Given the description of an element on the screen output the (x, y) to click on. 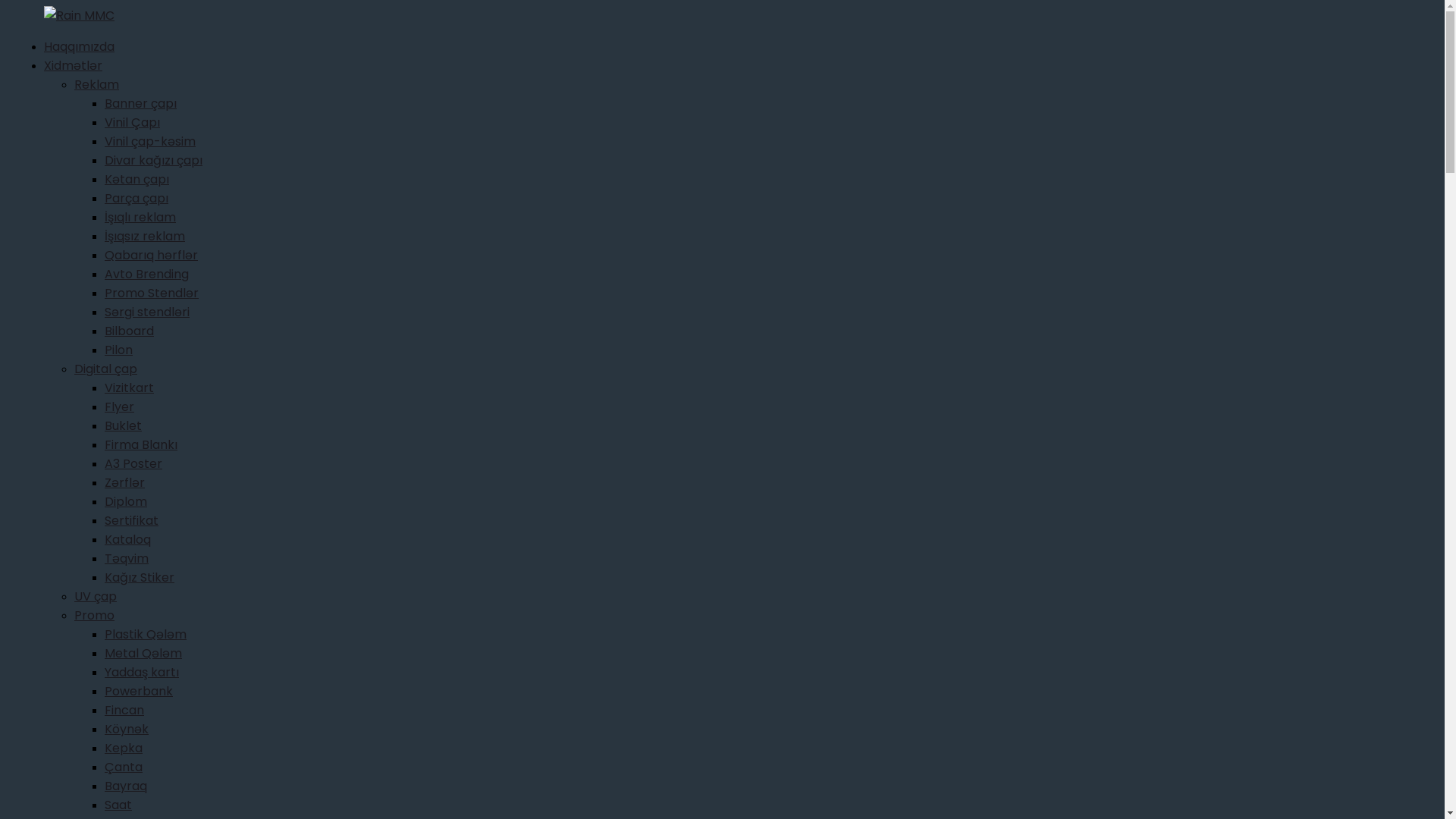
Pilon Element type: text (118, 349)
Avto Brending Element type: text (146, 273)
Reklam Element type: text (96, 84)
Promo Element type: text (94, 615)
Flyer Element type: text (119, 406)
Bilboard Element type: text (128, 330)
Sertifikat Element type: text (131, 520)
Powerbank Element type: text (138, 690)
Saat Element type: text (117, 804)
Bayraq Element type: text (125, 785)
Kataloq Element type: text (127, 539)
Buklet Element type: text (122, 425)
Diplom Element type: text (125, 501)
A3 Poster Element type: text (133, 463)
Fincan Element type: text (124, 709)
Vizitkart Element type: text (128, 387)
Kepka Element type: text (123, 747)
